Given the description of an element on the screen output the (x, y) to click on. 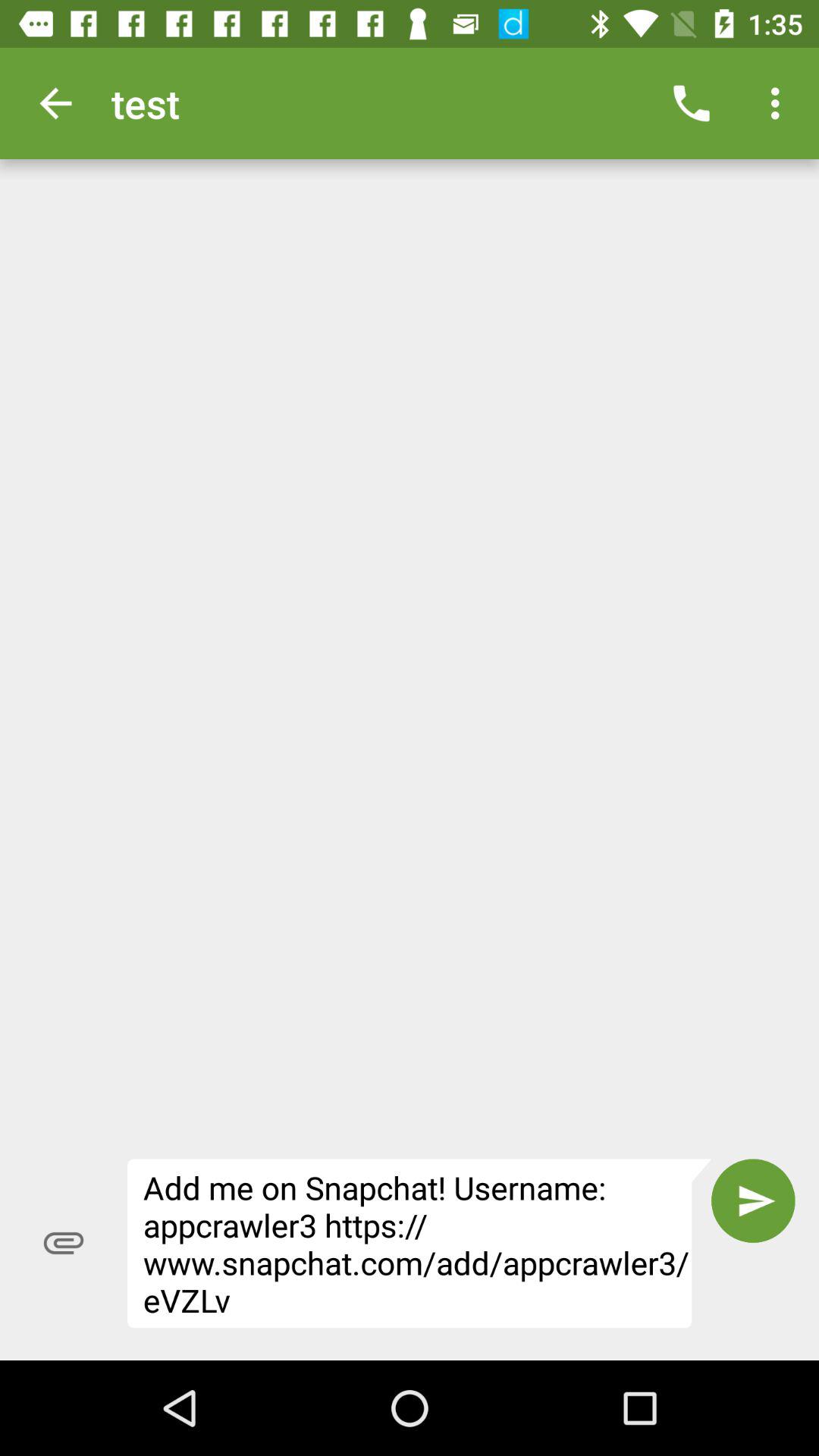
click the icon to the left of test (55, 103)
